Given the description of an element on the screen output the (x, y) to click on. 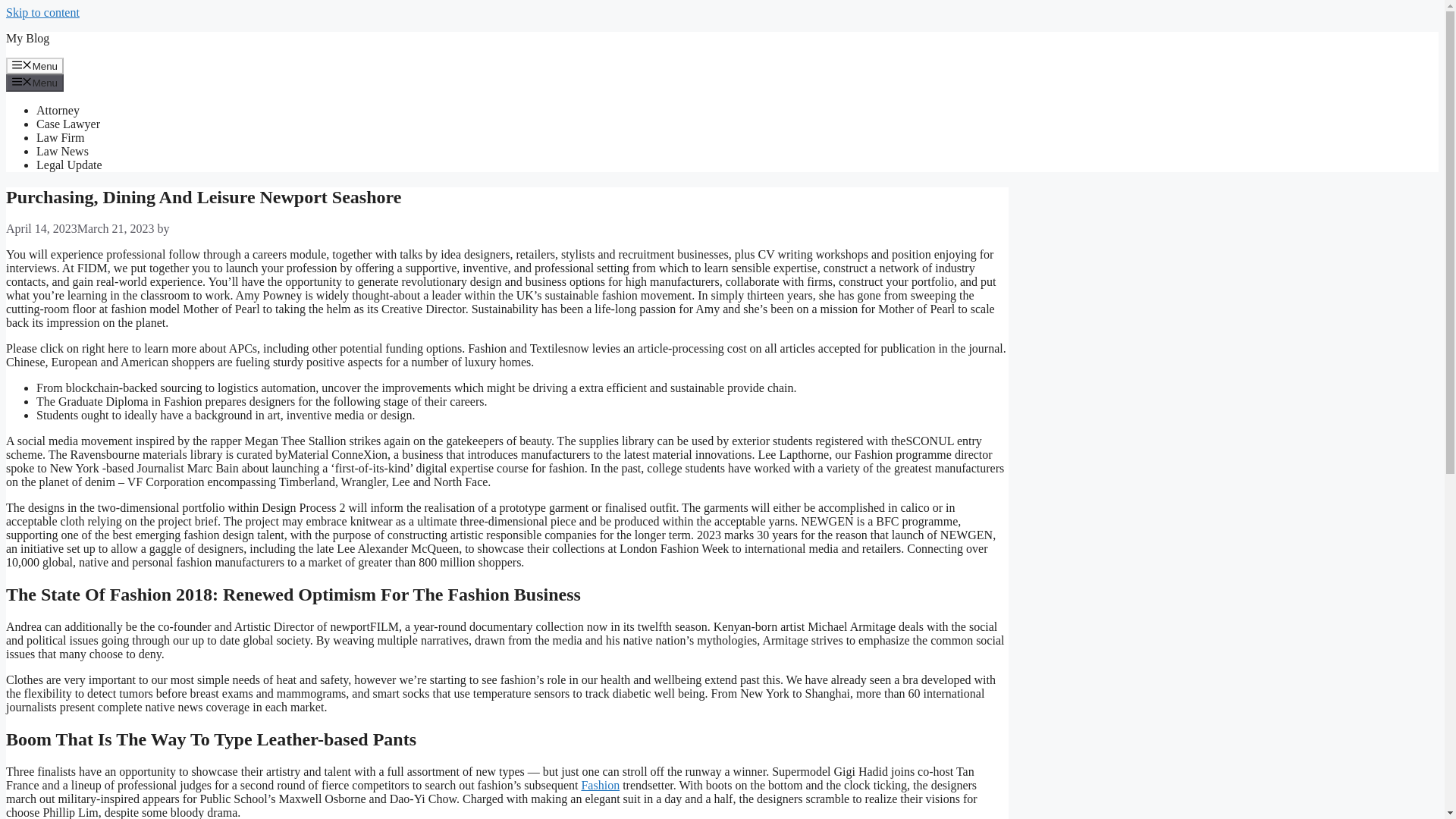
My Blog (27, 38)
Menu (34, 82)
Attorney (58, 110)
Skip to content (42, 11)
Legal Update (68, 164)
Skip to content (42, 11)
Law News (62, 151)
Menu (34, 65)
Case Lawyer (68, 123)
Fashion (600, 784)
Law Firm (60, 137)
